Given the description of an element on the screen output the (x, y) to click on. 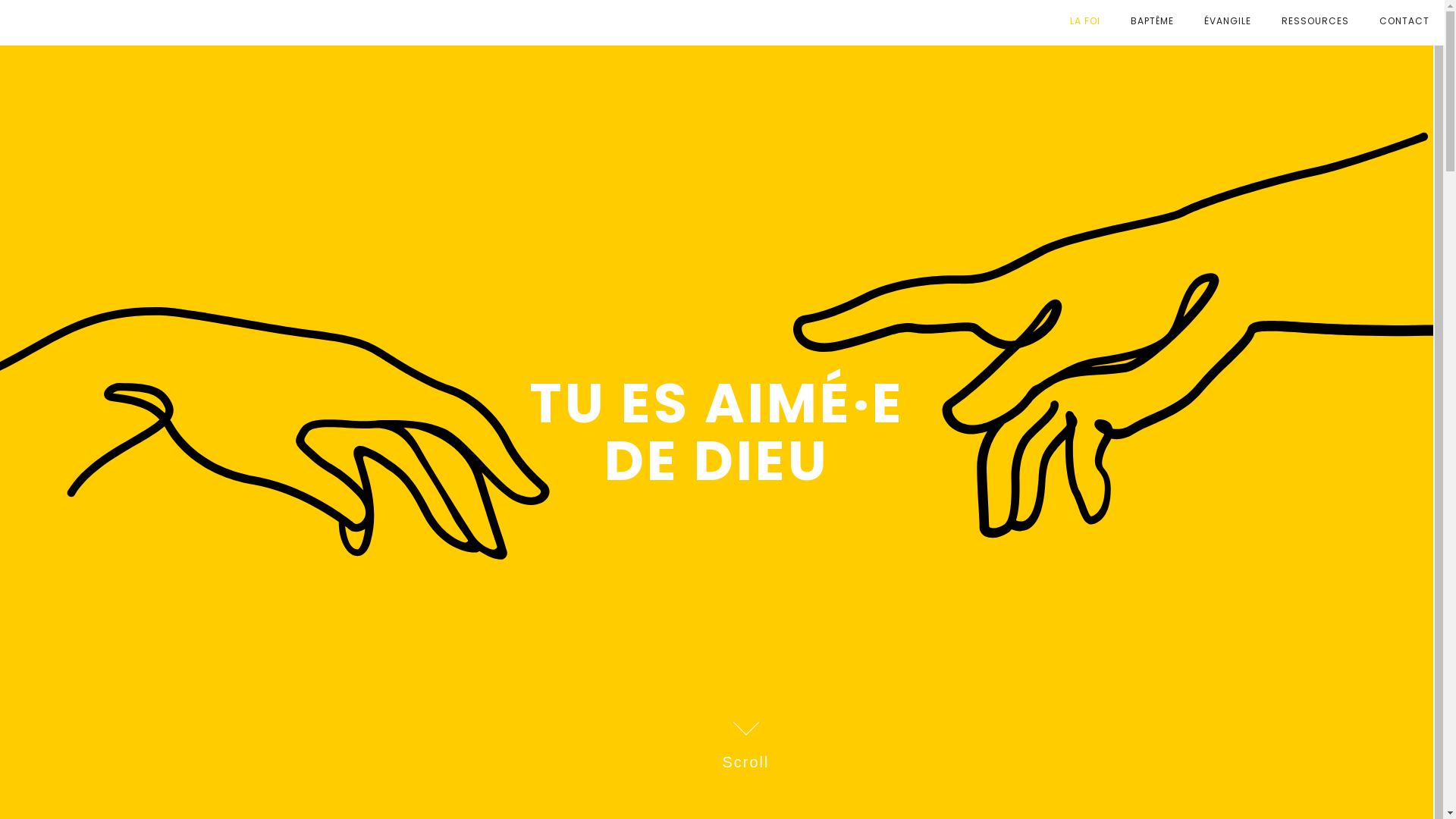
RESSOURCES Element type: text (1315, 20)
LA FOI Element type: text (1084, 20)
CONTACT Element type: text (1404, 20)
Scroll Element type: text (744, 735)
